Given the description of an element on the screen output the (x, y) to click on. 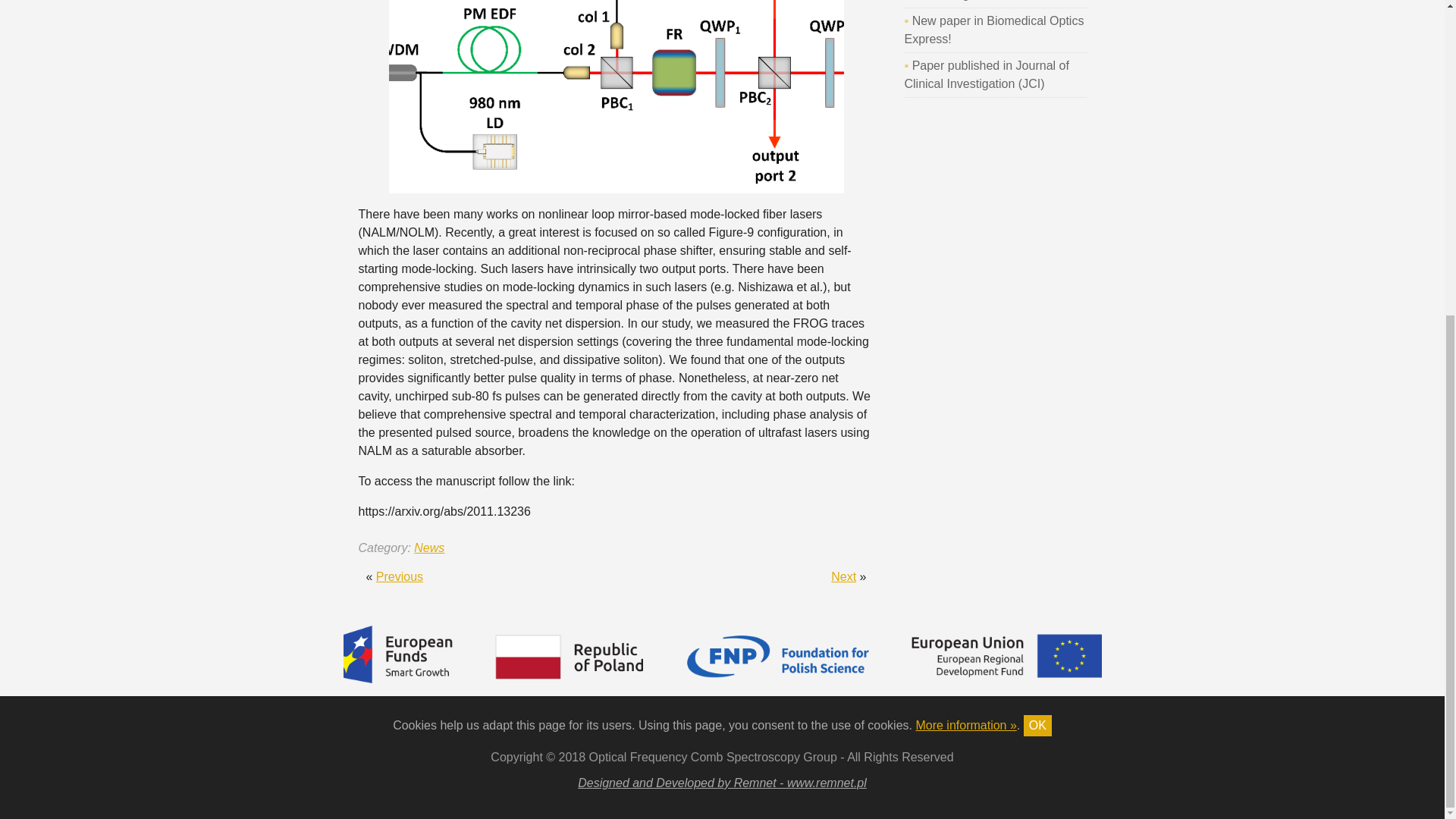
Previous (399, 576)
Now hiring! (942, 0)
Next (843, 576)
Designed and Developed by Remnet - www.remnet.pl (722, 782)
News (428, 547)
Additional funding for our project! (843, 576)
New paper in Biomedical Optics Express! (993, 29)
